Given the description of an element on the screen output the (x, y) to click on. 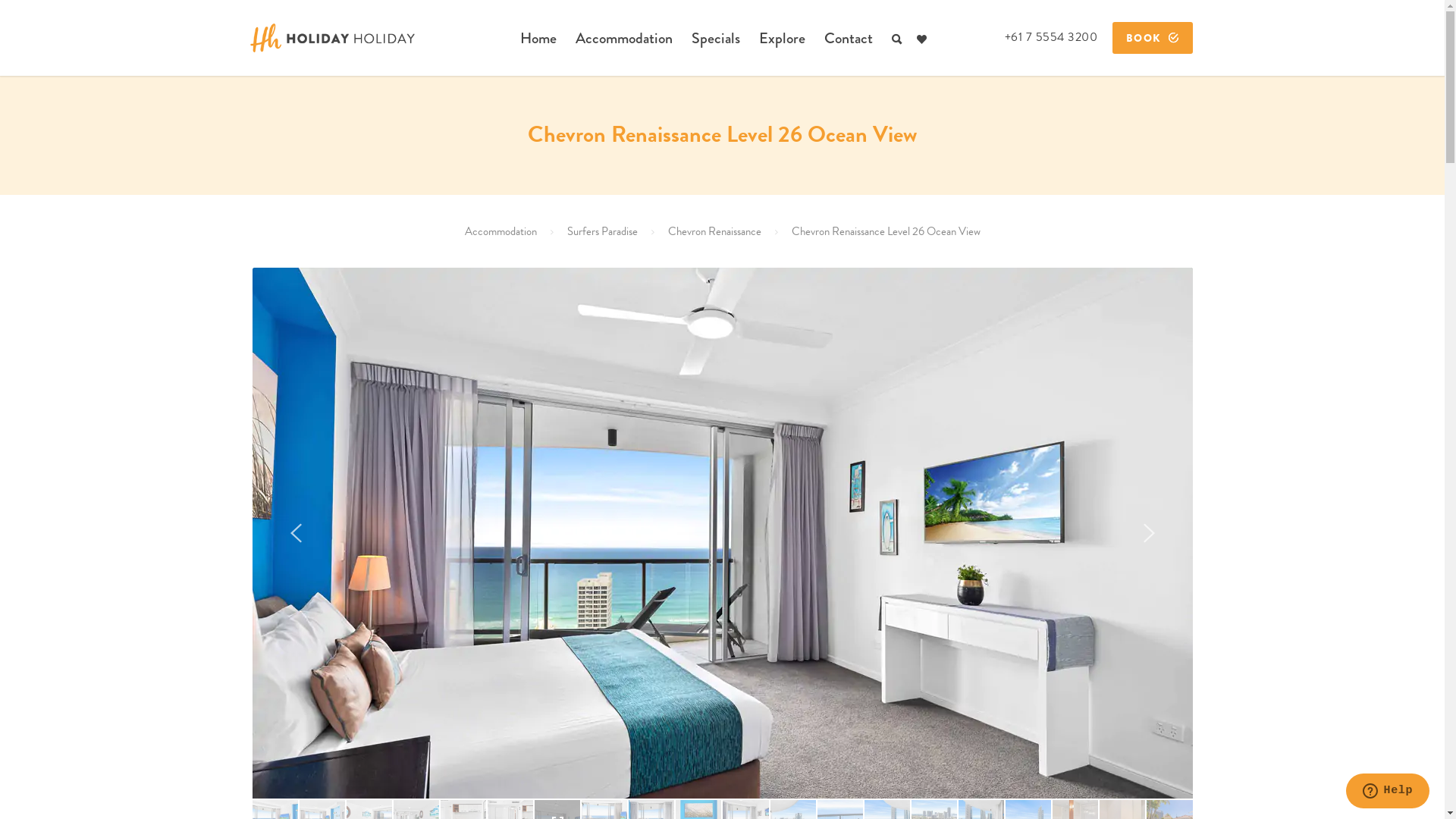
Explore Element type: text (782, 38)
BOOK Element type: text (1152, 37)
Contact Element type: text (848, 38)
Surfers Paradise Element type: text (602, 230)
Specials Element type: text (714, 38)
Home Element type: text (537, 38)
+61 7 5554 3200 Element type: text (1051, 37)
Chevron Renaissance Element type: text (713, 230)
Accommodation Element type: text (499, 230)
Opens a widget where you can chat to one of our agents Element type: hover (1387, 792)
Accommodation Element type: text (623, 38)
